Given the description of an element on the screen output the (x, y) to click on. 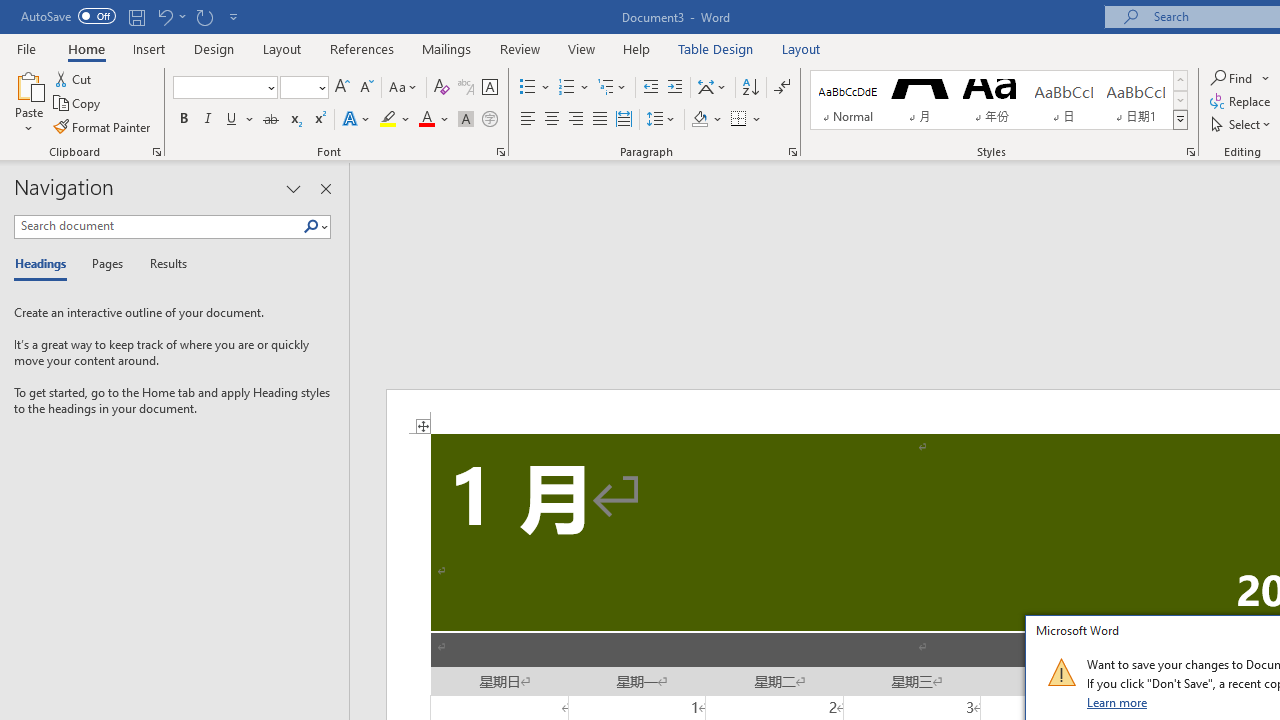
Font Color RGB(255, 0, 0) (426, 119)
